Given the description of an element on the screen output the (x, y) to click on. 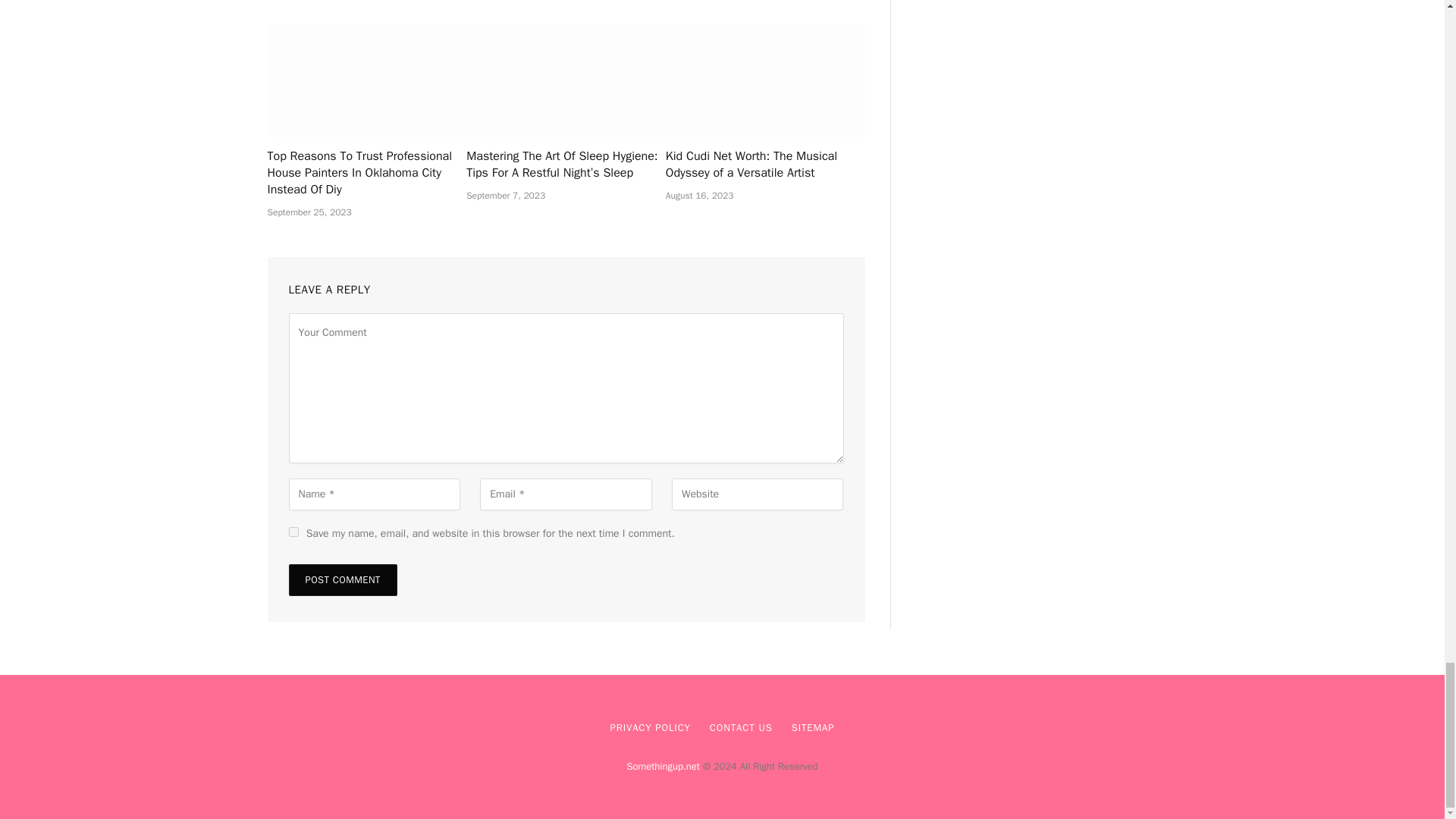
Post Comment (342, 580)
yes (293, 532)
